Given the description of an element on the screen output the (x, y) to click on. 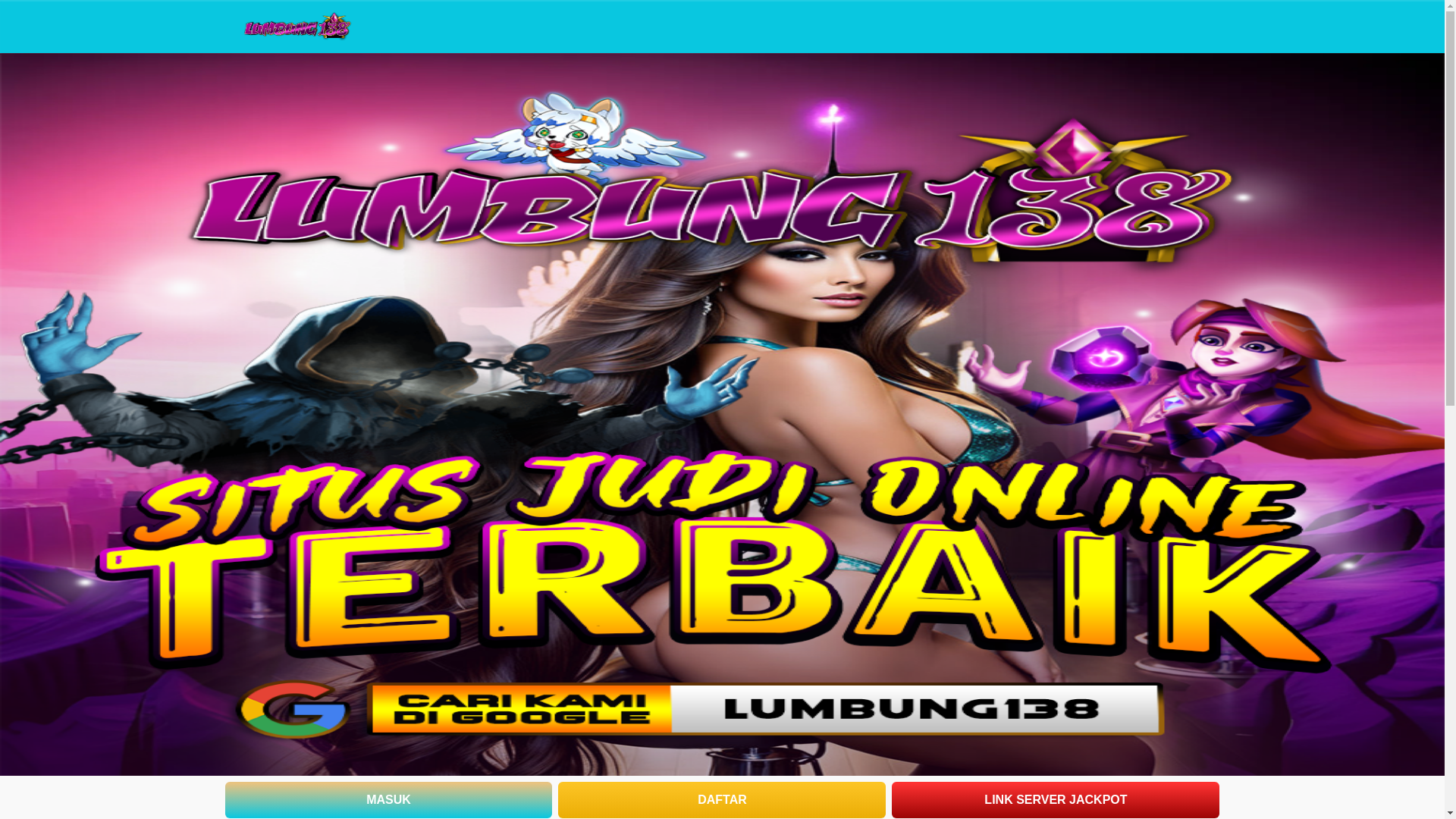
MASUK (387, 799)
DAFTAR (721, 799)
LINK SERVER JACKPOT (1055, 799)
